Given the description of an element on the screen output the (x, y) to click on. 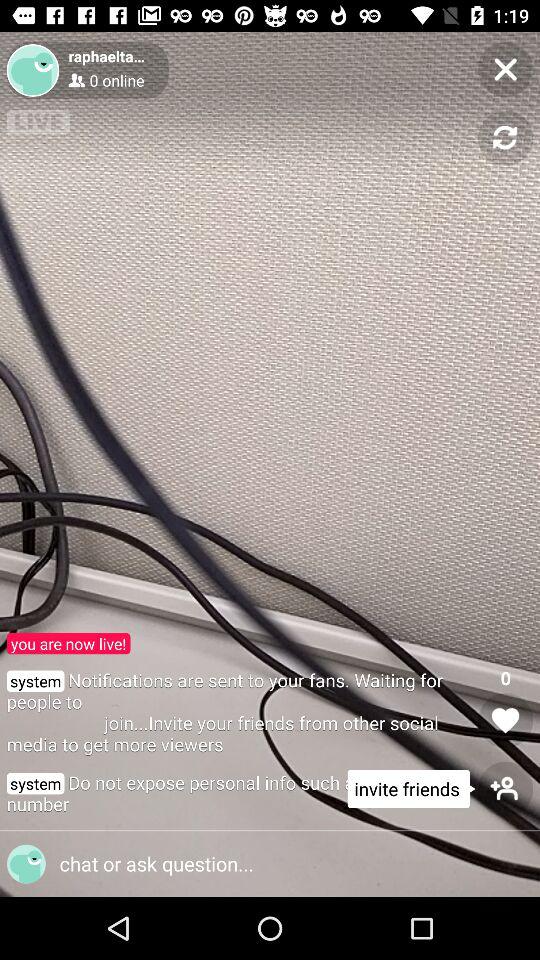
option icon (261, 863)
